Given the description of an element on the screen output the (x, y) to click on. 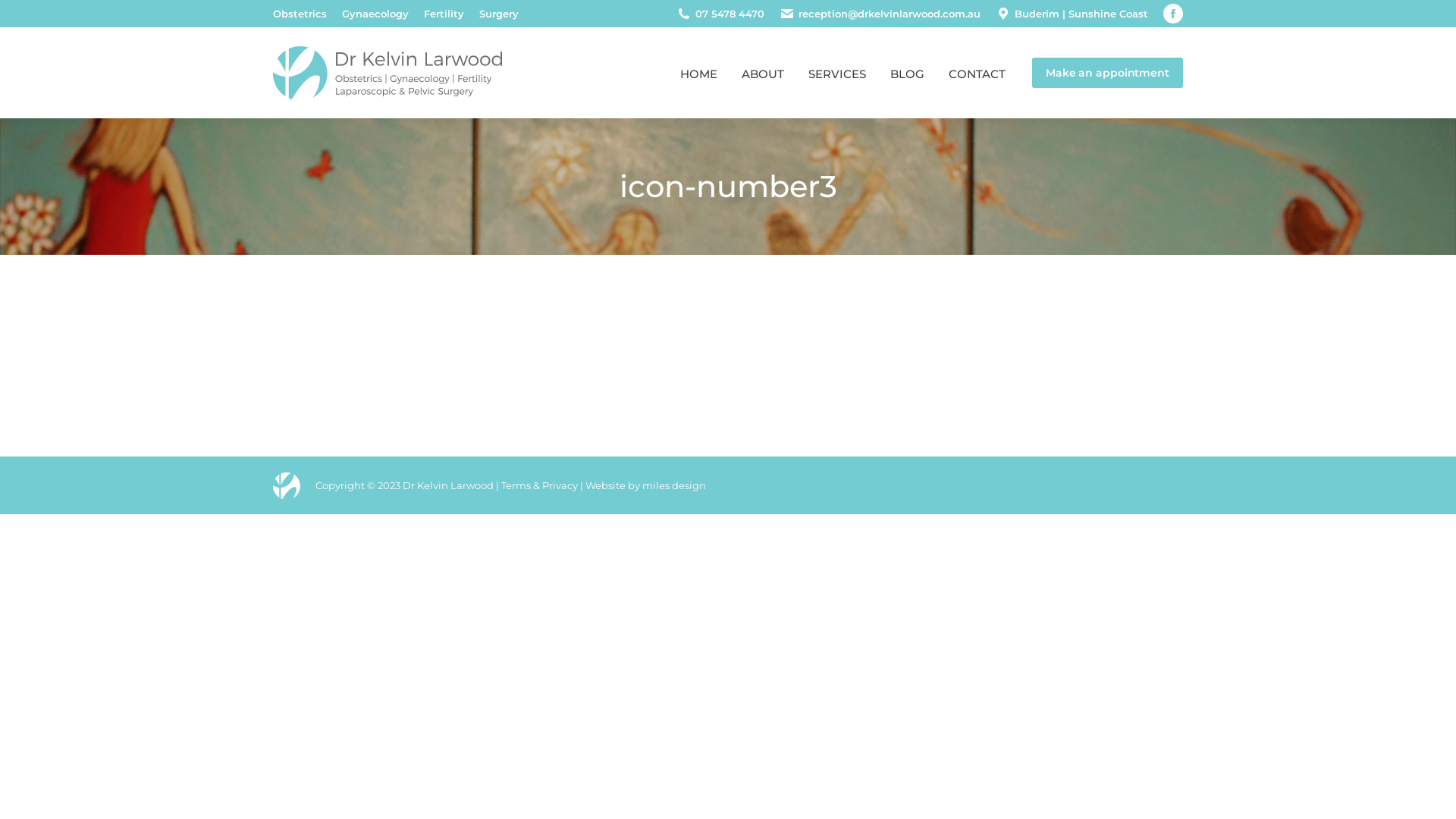
Buderim | Sunshine Coast Element type: text (1081, 13)
Gynaecology Element type: text (375, 13)
HOME Element type: text (698, 72)
Obstetrics Element type: text (299, 13)
Terms & Privacy Element type: text (539, 485)
ABOUT Element type: text (762, 72)
Fertility Element type: text (443, 13)
Make an appointment Element type: text (1107, 72)
Facebook page opens in new window Element type: text (1173, 13)
Website by miles design Element type: text (645, 485)
reception@drkelvinlarwood.com.au Element type: text (889, 13)
BLOG Element type: text (907, 72)
07 5478 4470 Element type: text (729, 13)
Surgery Element type: text (498, 13)
CONTACT Element type: text (976, 72)
SERVICES Element type: text (837, 72)
